Given the description of an element on the screen output the (x, y) to click on. 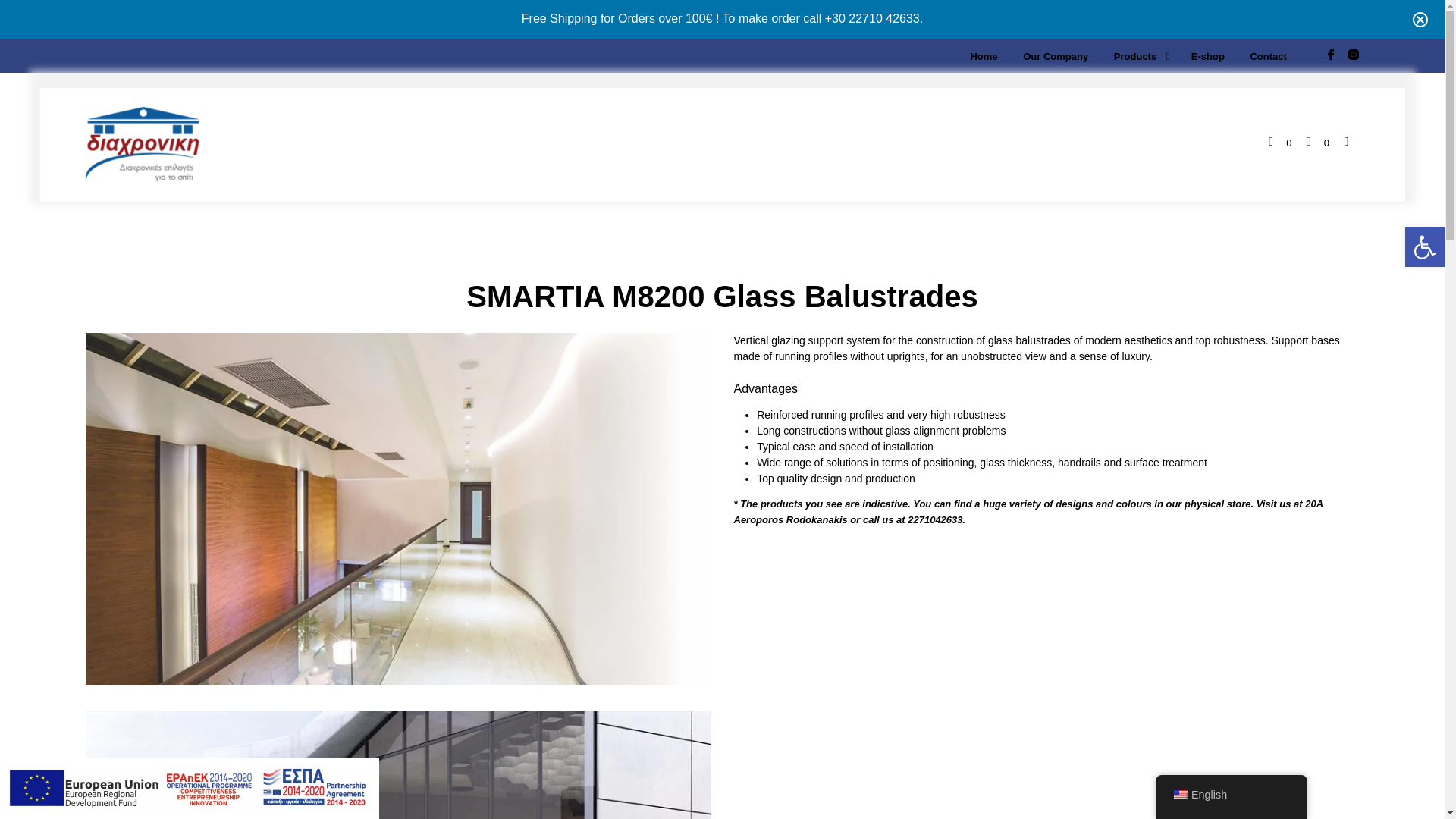
English (1180, 794)
Instagram (1352, 54)
Accessibility Tools (1424, 247)
Everything for your home (141, 144)
Facebook (1330, 54)
